Given the description of an element on the screen output the (x, y) to click on. 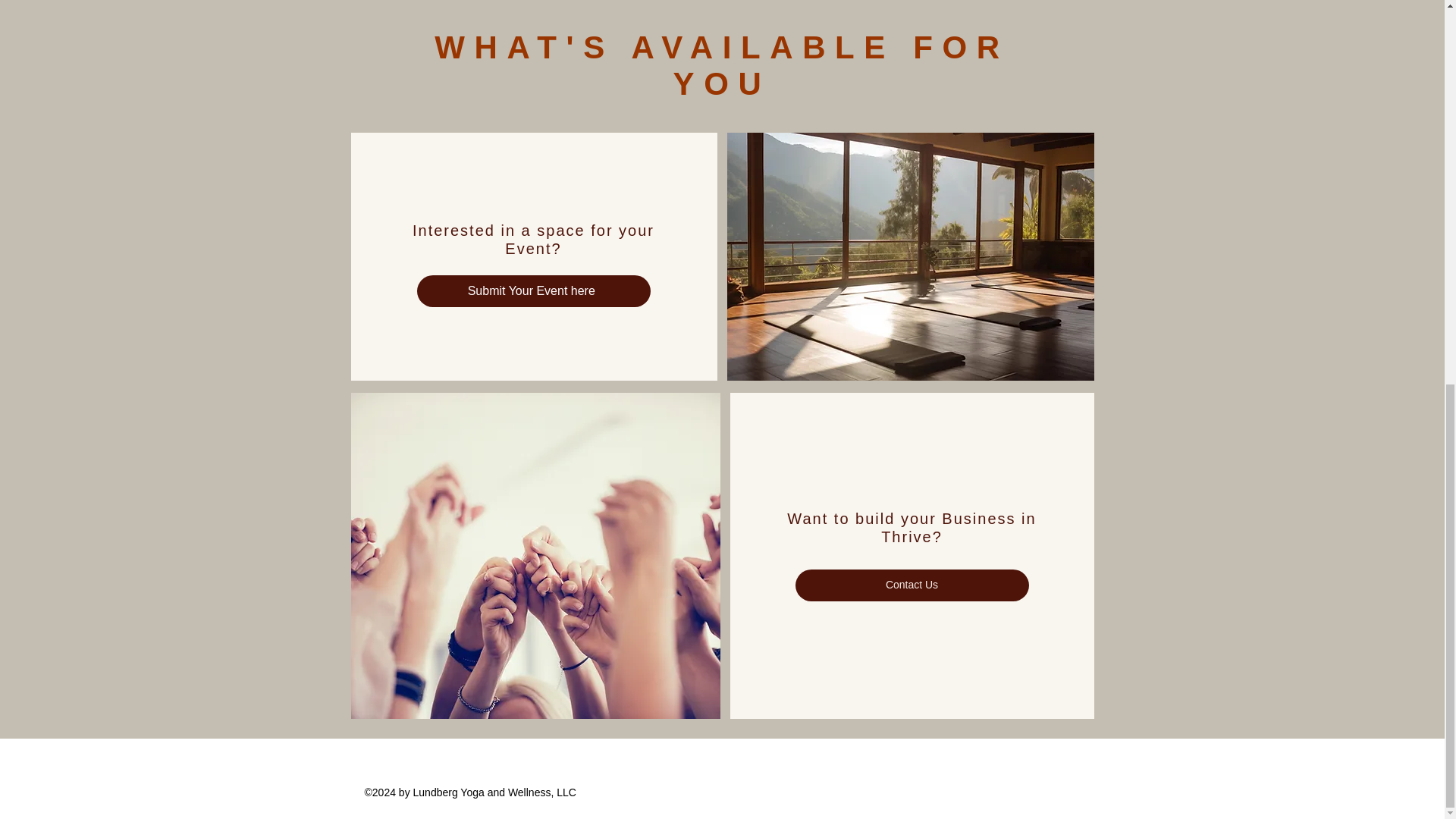
Contact Us (910, 585)
Submit Your Event here (533, 291)
